Given the description of an element on the screen output the (x, y) to click on. 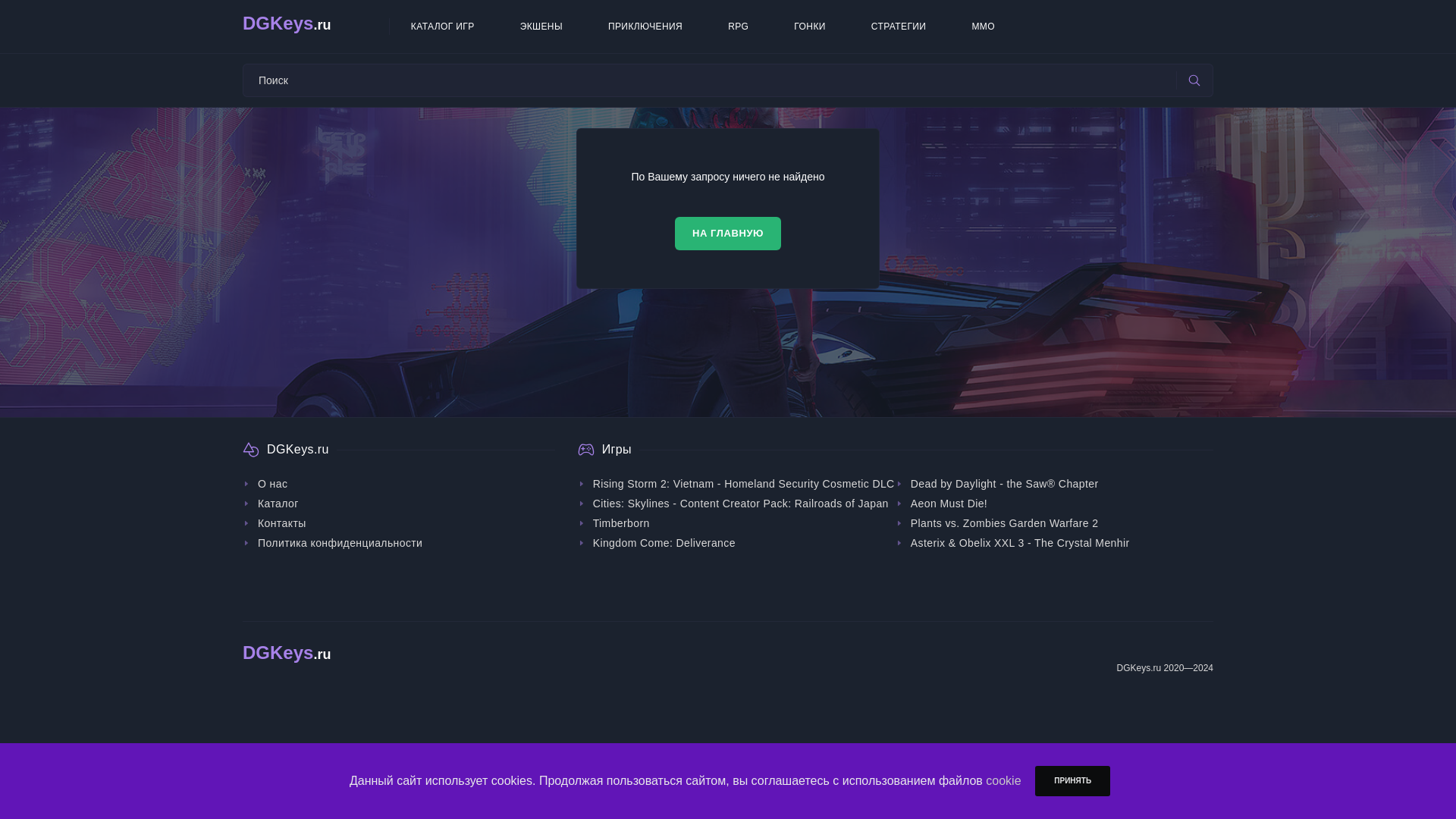
Cities: Skylines - Content Creator Pack: Railroads of Japan (733, 503)
Timberborn (613, 523)
DGKeys.ru (288, 654)
Rising Storm 2: Vietnam - Homeland Security Cosmetic DLC (736, 483)
Plants vs. Zombies Garden Warfare 2 (997, 523)
DGKeys.ru (315, 26)
Aeon Must Die! (941, 503)
RPG (738, 26)
Kingdom Come: Deliverance (656, 542)
MMO (982, 26)
